Given the description of an element on the screen output the (x, y) to click on. 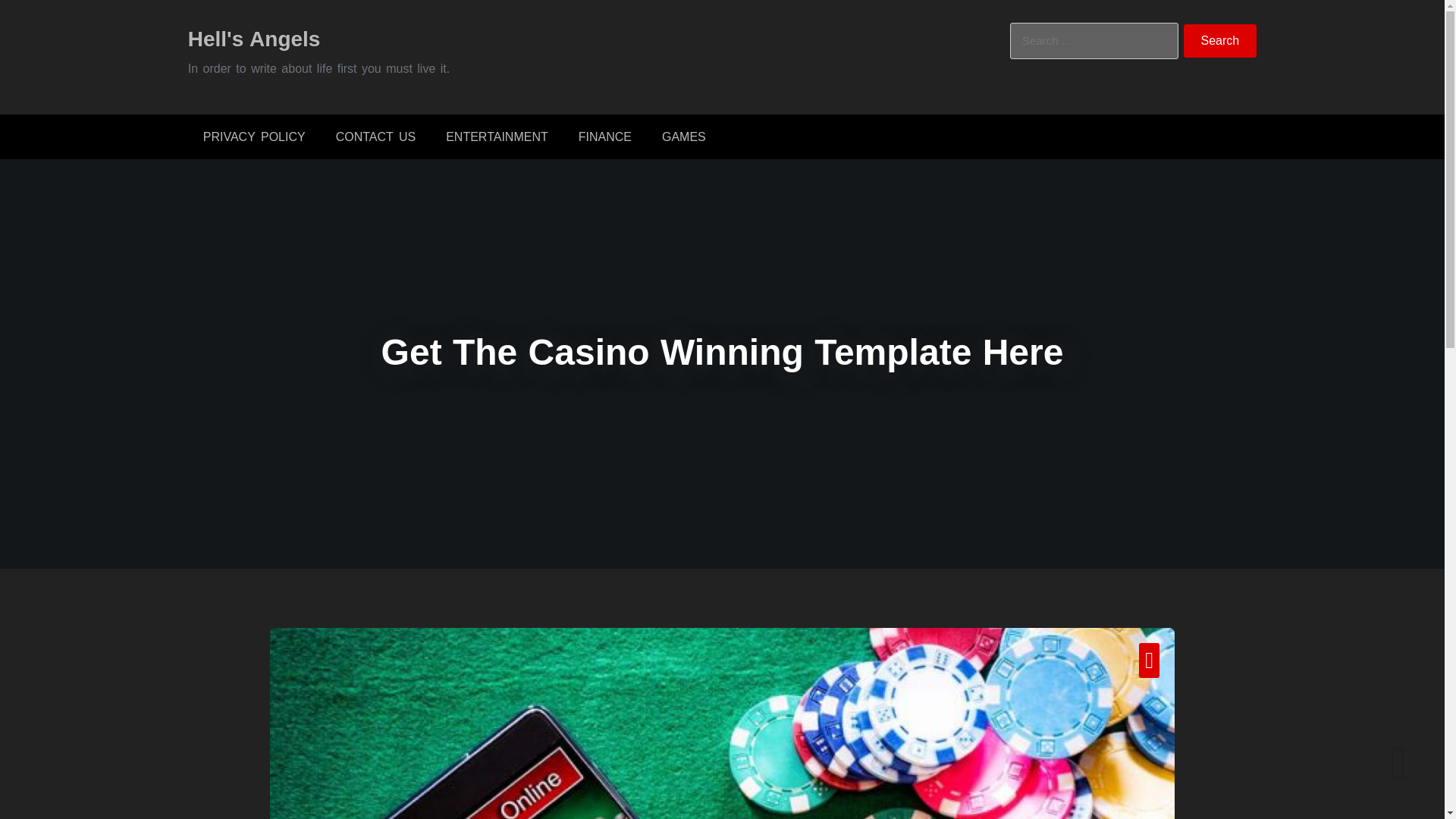
ENTERTAINMENT (496, 136)
Search (1220, 40)
Search (1220, 40)
GAMES (683, 136)
PRIVACY POLICY (253, 136)
CONTACT US (375, 136)
Search (1220, 40)
Hell's Angels (253, 38)
FINANCE (604, 136)
